Given the description of an element on the screen output the (x, y) to click on. 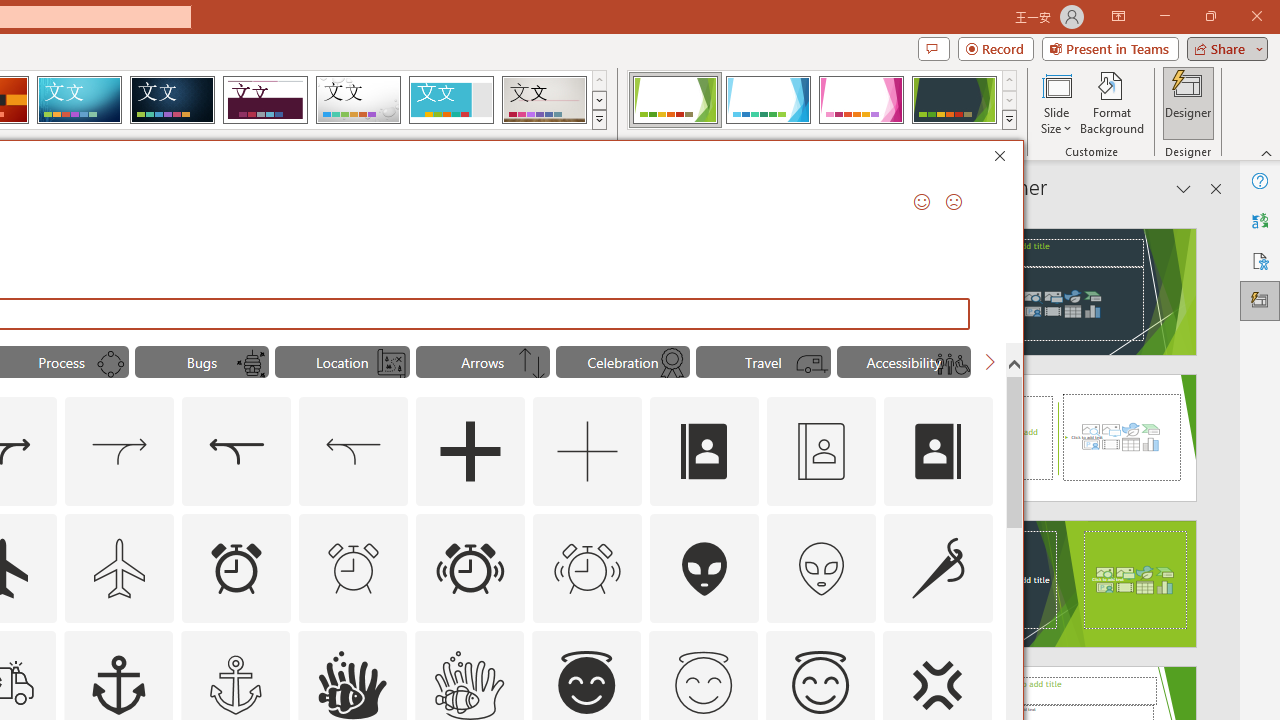
Facet Variant 2 (768, 100)
Send a Frown (954, 201)
AutomationID: Icons_Acquisition_RTL_M (353, 452)
"Arrows" Icons. (483, 362)
AutomationID: Icons_Add (470, 452)
AutomationID: Icons_AddressBook_RTL (938, 452)
AutomationID: _134_Angel_Face_A (586, 682)
